Given the description of an element on the screen output the (x, y) to click on. 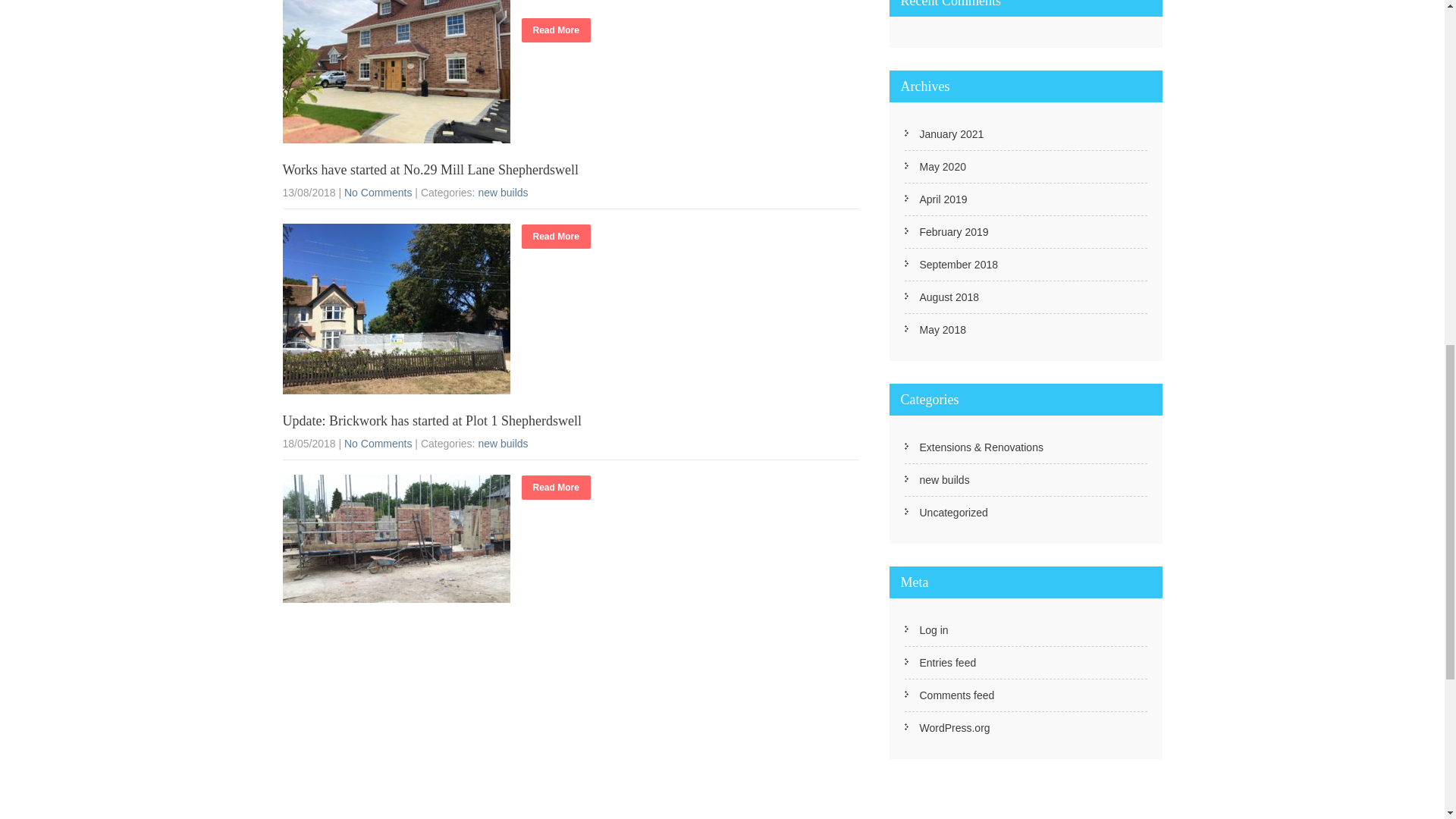
new builds (502, 192)
Read More (556, 30)
Read More (556, 236)
new builds (502, 443)
Update: Brickwork has started at Plot 1 Shepherdswell (431, 420)
View all posts in new builds (502, 443)
Read More (556, 487)
View all posts in new builds (502, 192)
Works have started at No.29 Mill Lane Shepherdswell (430, 169)
No Comments (377, 192)
No Comments (377, 443)
